Given the description of an element on the screen output the (x, y) to click on. 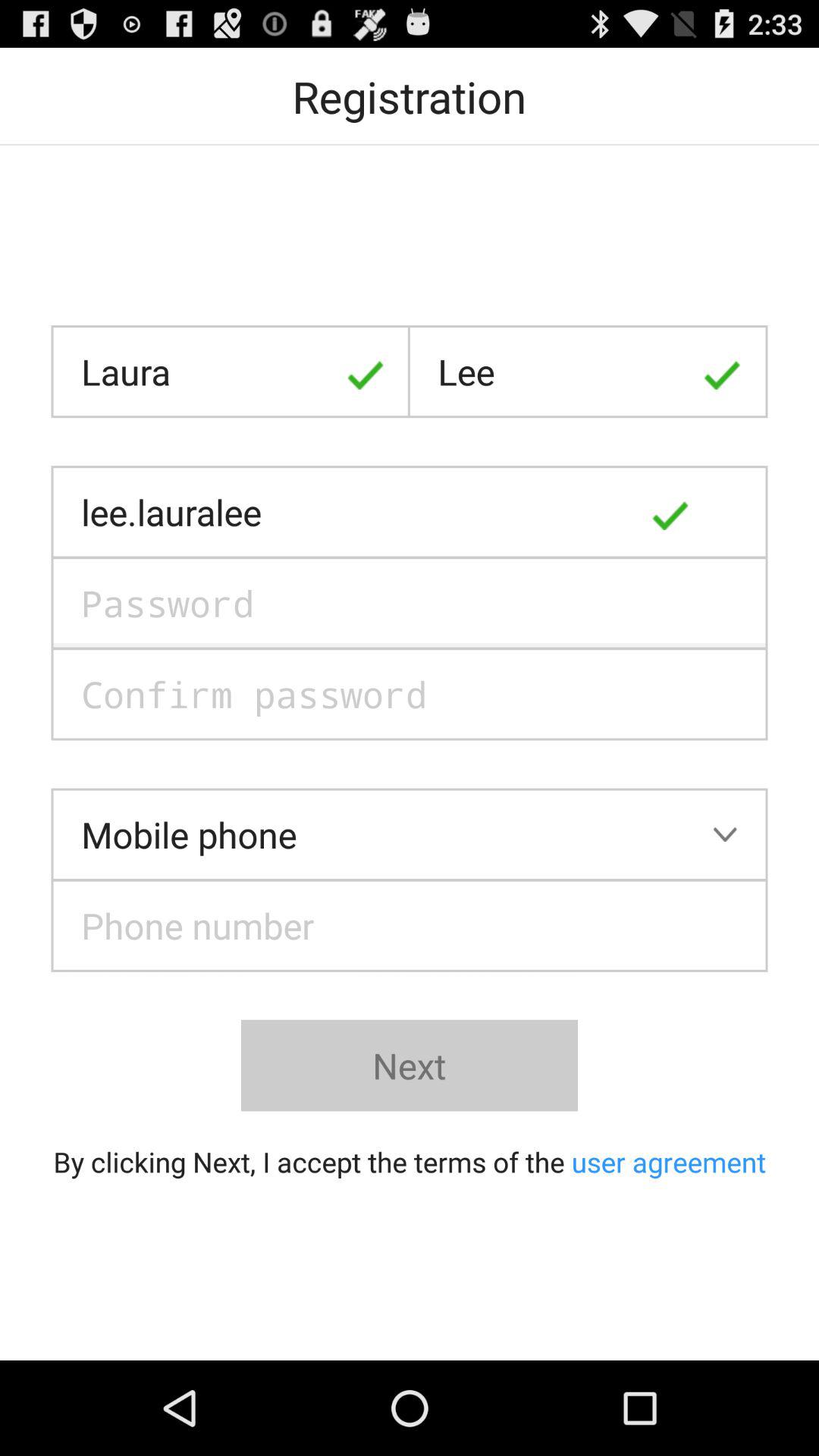
swipe to lee.lauralee item (409, 511)
